Given the description of an element on the screen output the (x, y) to click on. 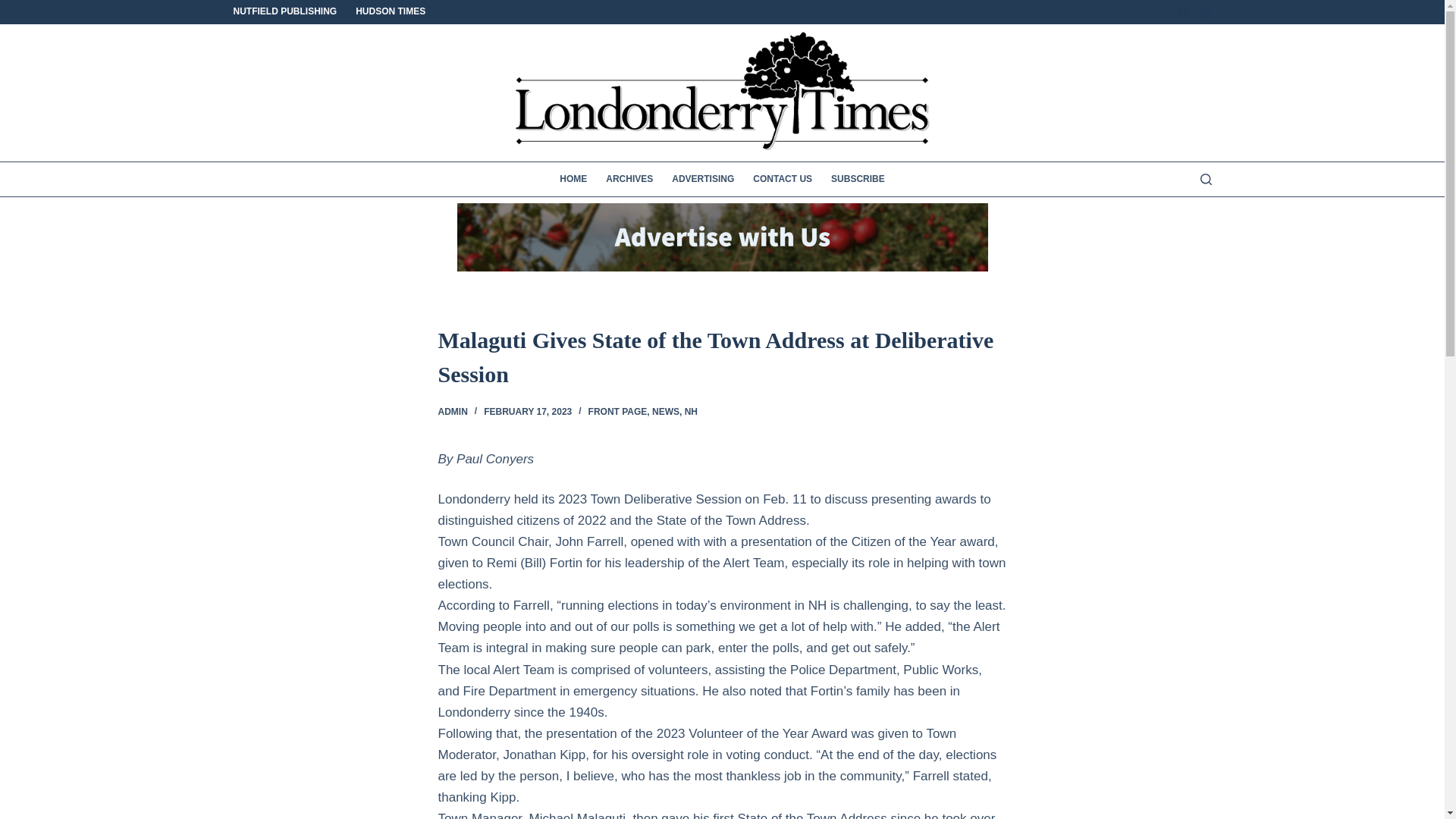
HUDSON TIMES (386, 12)
SUBSCRIBE (853, 179)
NUTFIELD PUBLISHING (289, 12)
ADMIN (452, 411)
Skip to content (15, 7)
FRONT PAGE (617, 411)
NEWS (665, 411)
HOME (577, 179)
ADVERTISING (703, 179)
NH (690, 411)
ARCHIVES (629, 179)
Posts by admin (452, 411)
CONTACT US (783, 179)
